Given the description of an element on the screen output the (x, y) to click on. 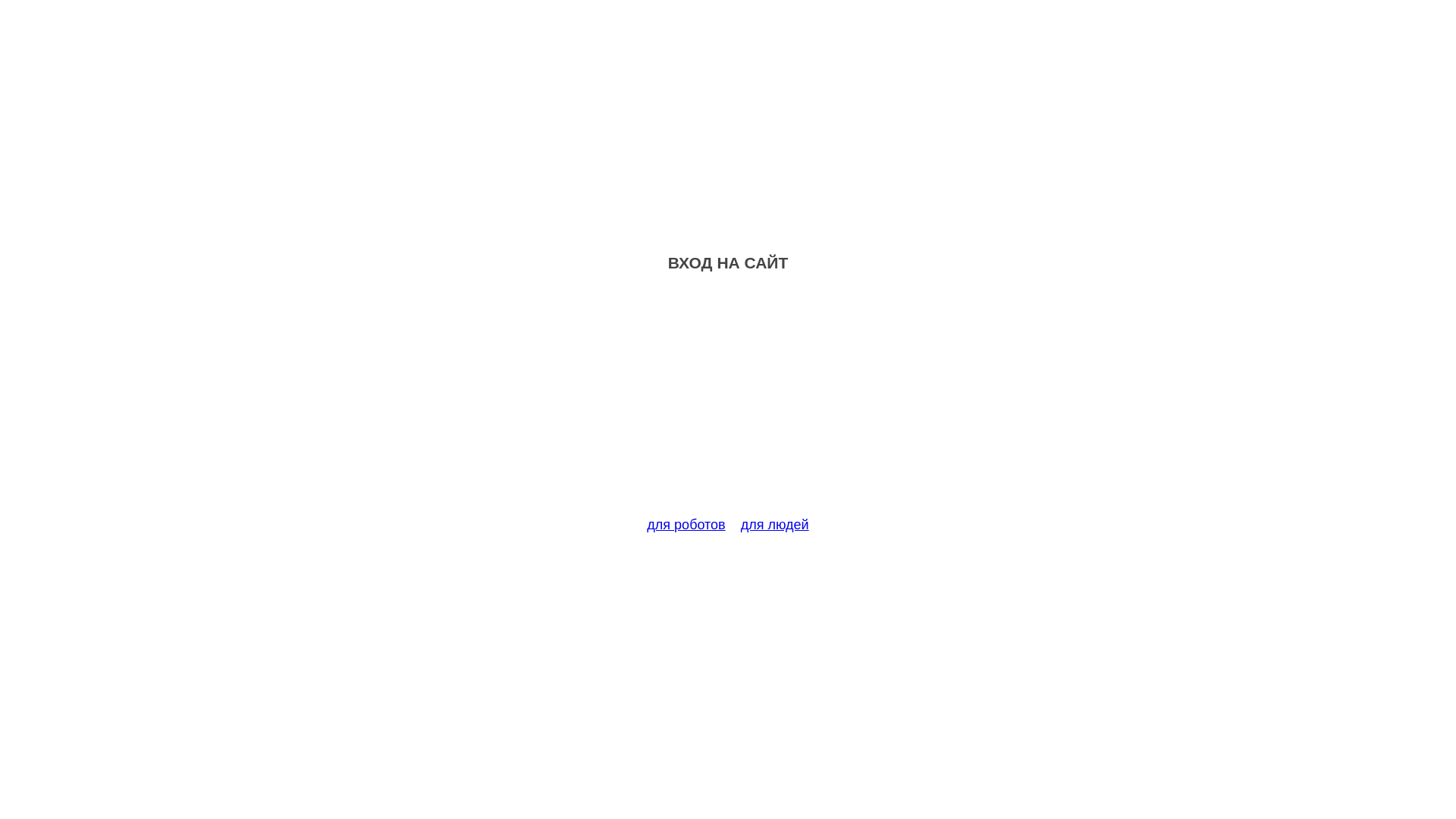
Advertisement Element type: hover (727, 403)
